Given the description of an element on the screen output the (x, y) to click on. 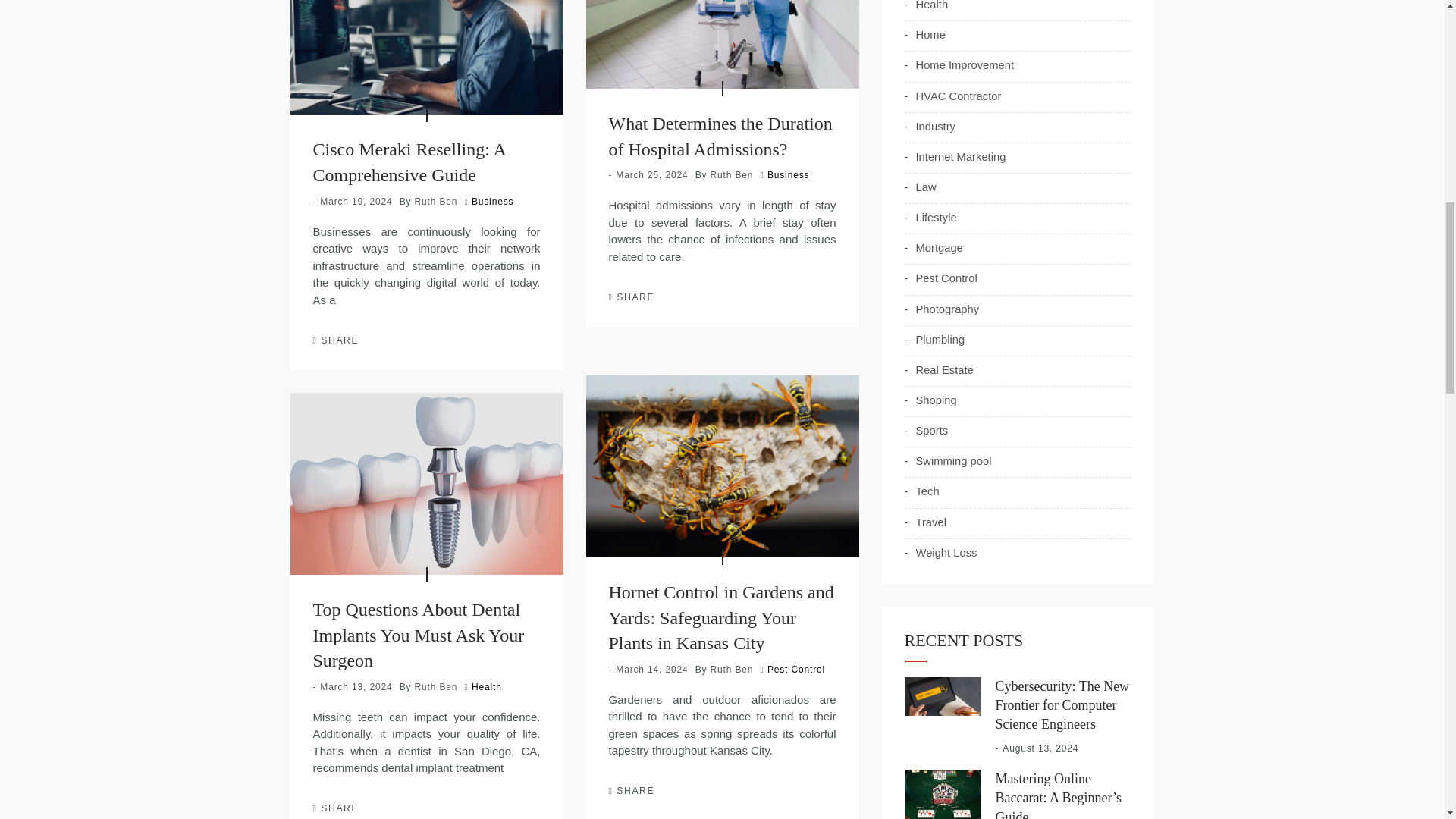
Business (788, 174)
What Determines the Duration of Hospital Admissions? (719, 135)
Ruth Ben (732, 174)
March 25, 2024 (651, 174)
